Given the description of an element on the screen output the (x, y) to click on. 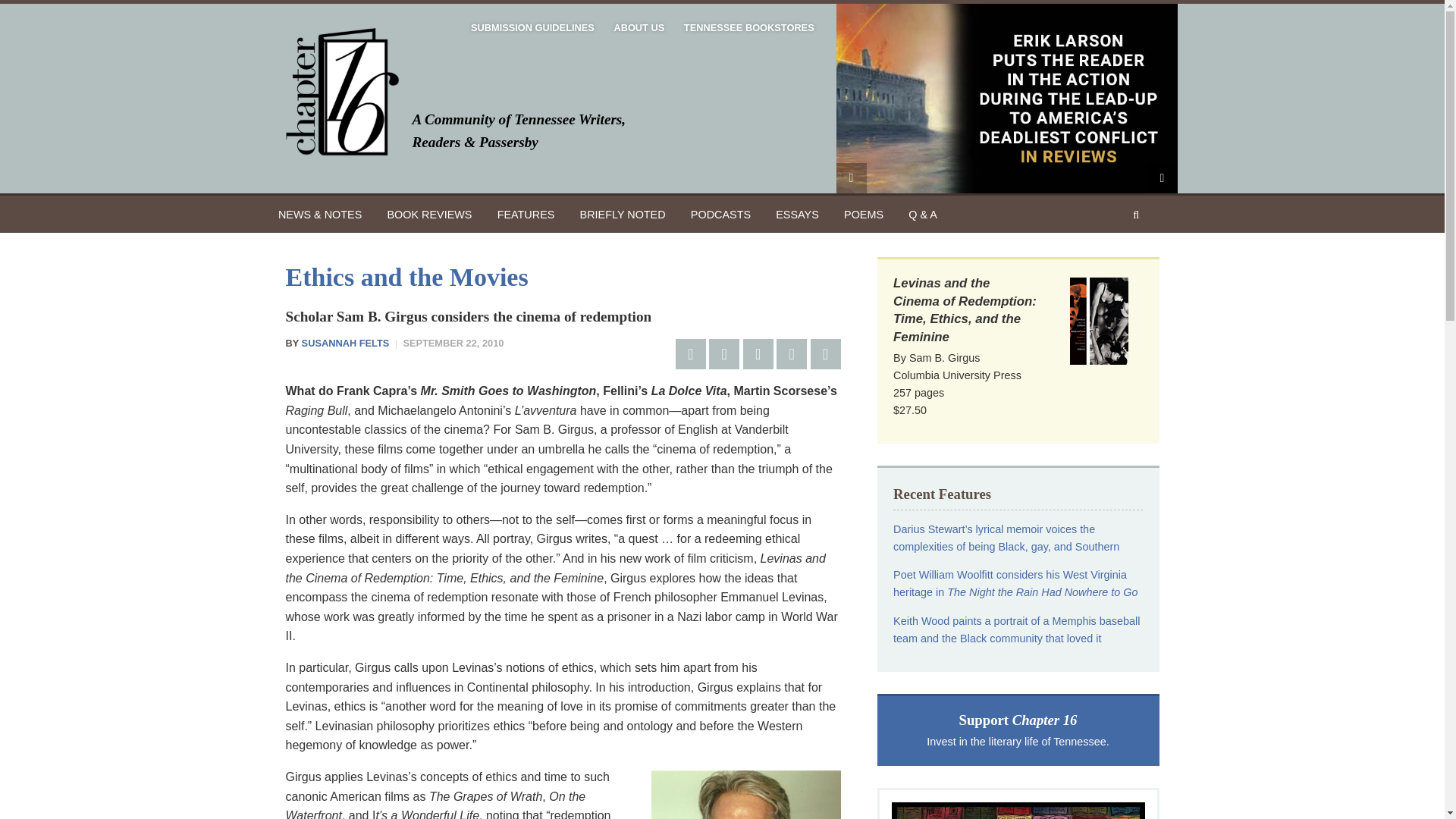
SUSANNAH FELTS (345, 342)
Email (791, 354)
PODCASTS (720, 214)
Share on Facebook (690, 354)
BRIEFLY NOTED (623, 214)
BOOK REVIEWS (429, 214)
SUBMISSION GUIDELINES (532, 27)
ESSAYS (797, 214)
FEATURES (525, 214)
